Given the description of an element on the screen output the (x, y) to click on. 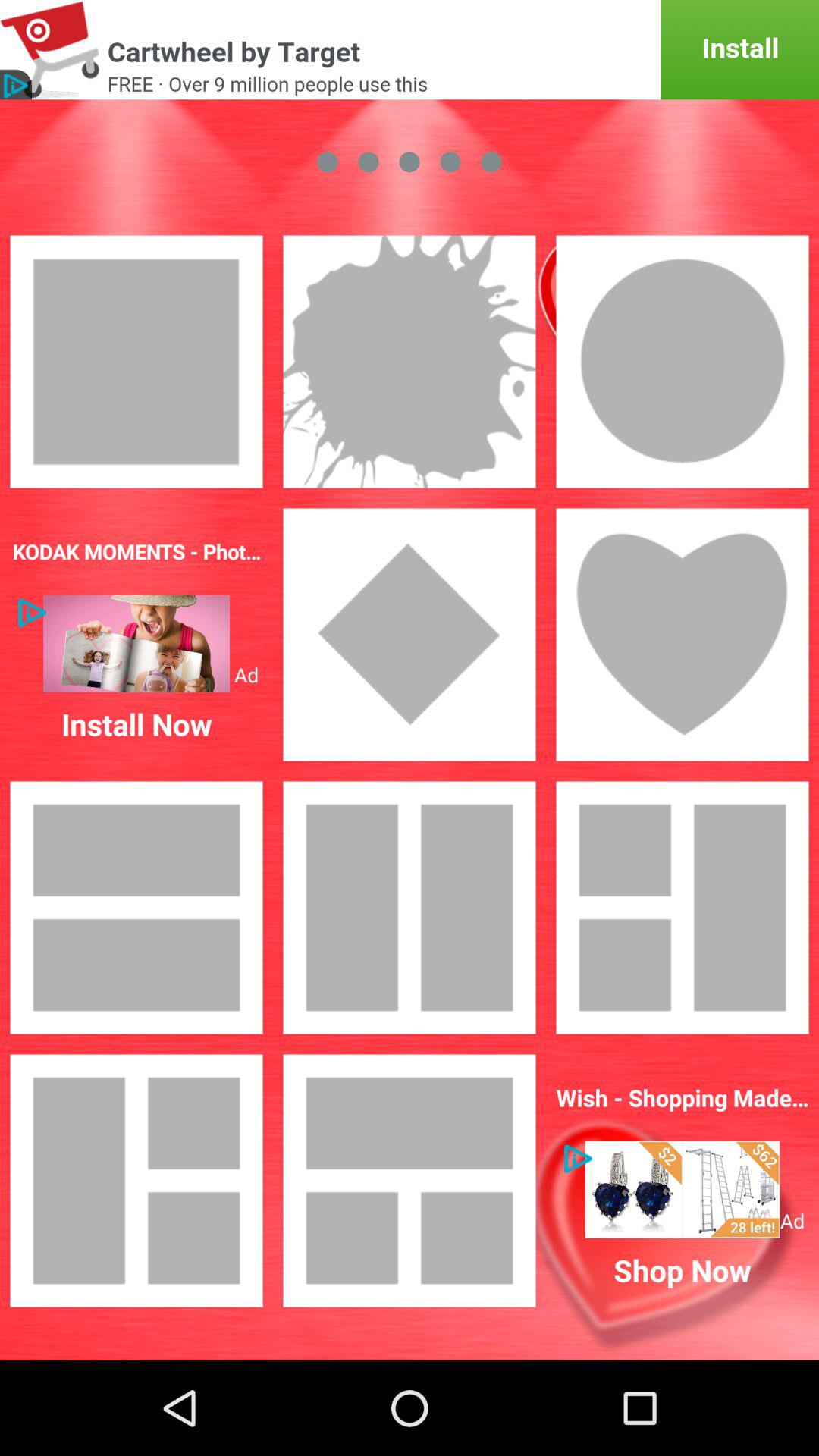
add banner (682, 1189)
